Given the description of an element on the screen output the (x, y) to click on. 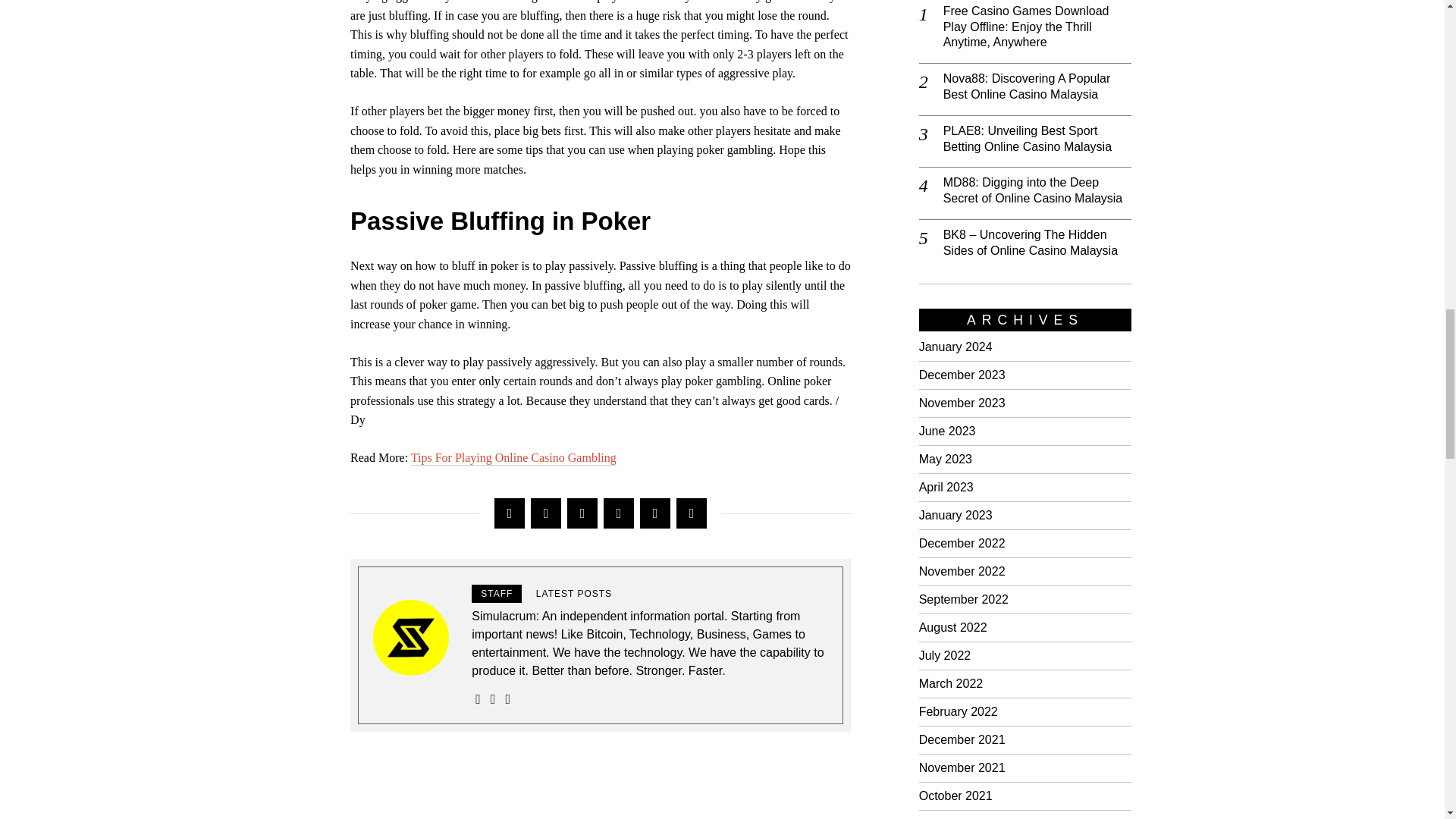
STAFF (496, 593)
LATEST POSTS (574, 593)
Tips For Playing Online Casino Gambling (512, 457)
